Given the description of an element on the screen output the (x, y) to click on. 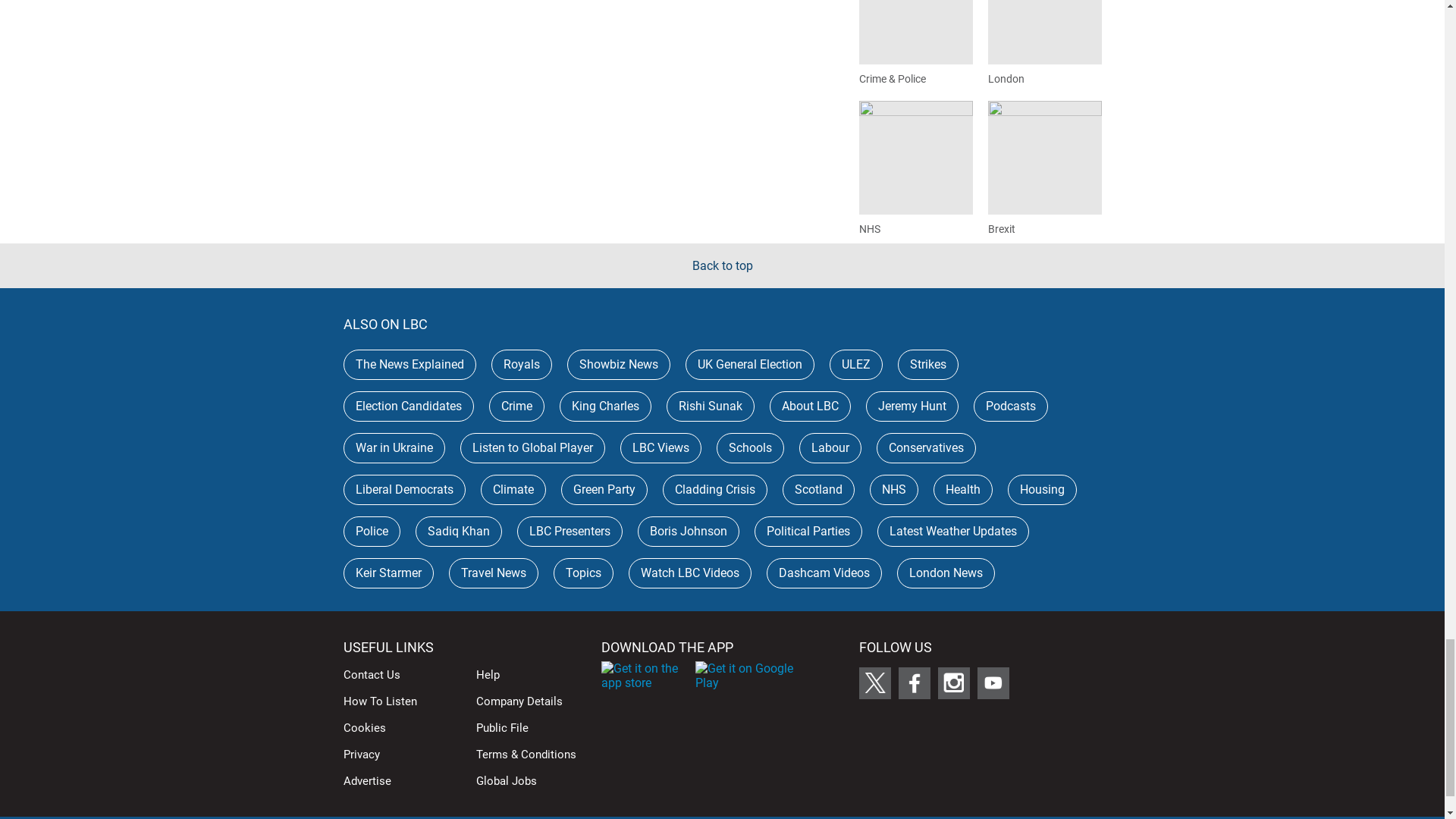
Back to top (721, 265)
Follow LBC on Youtube (992, 683)
Follow LBC on Instagram (953, 683)
Follow LBC on X (874, 683)
Follow LBC on Facebook (914, 683)
